Given the description of an element on the screen output the (x, y) to click on. 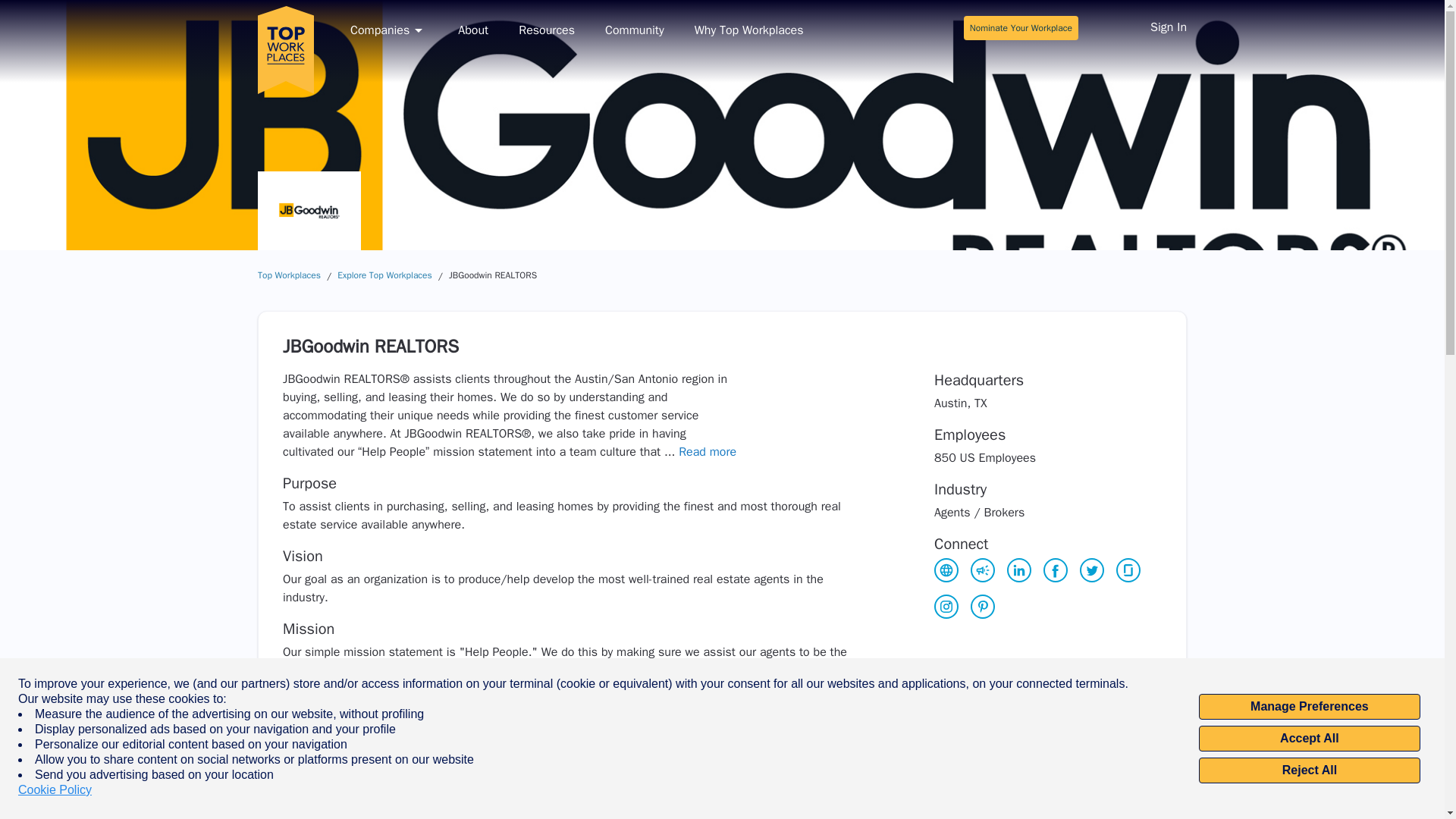
Reject All (1309, 769)
Manage Preferences (1309, 706)
About (472, 30)
Cookie Policy (54, 789)
Resources (546, 30)
Community (634, 30)
Companies (389, 30)
Nominate Your Workplace (1020, 27)
Sign In (1168, 28)
Why Top Workplaces (748, 30)
